Given the description of an element on the screen output the (x, y) to click on. 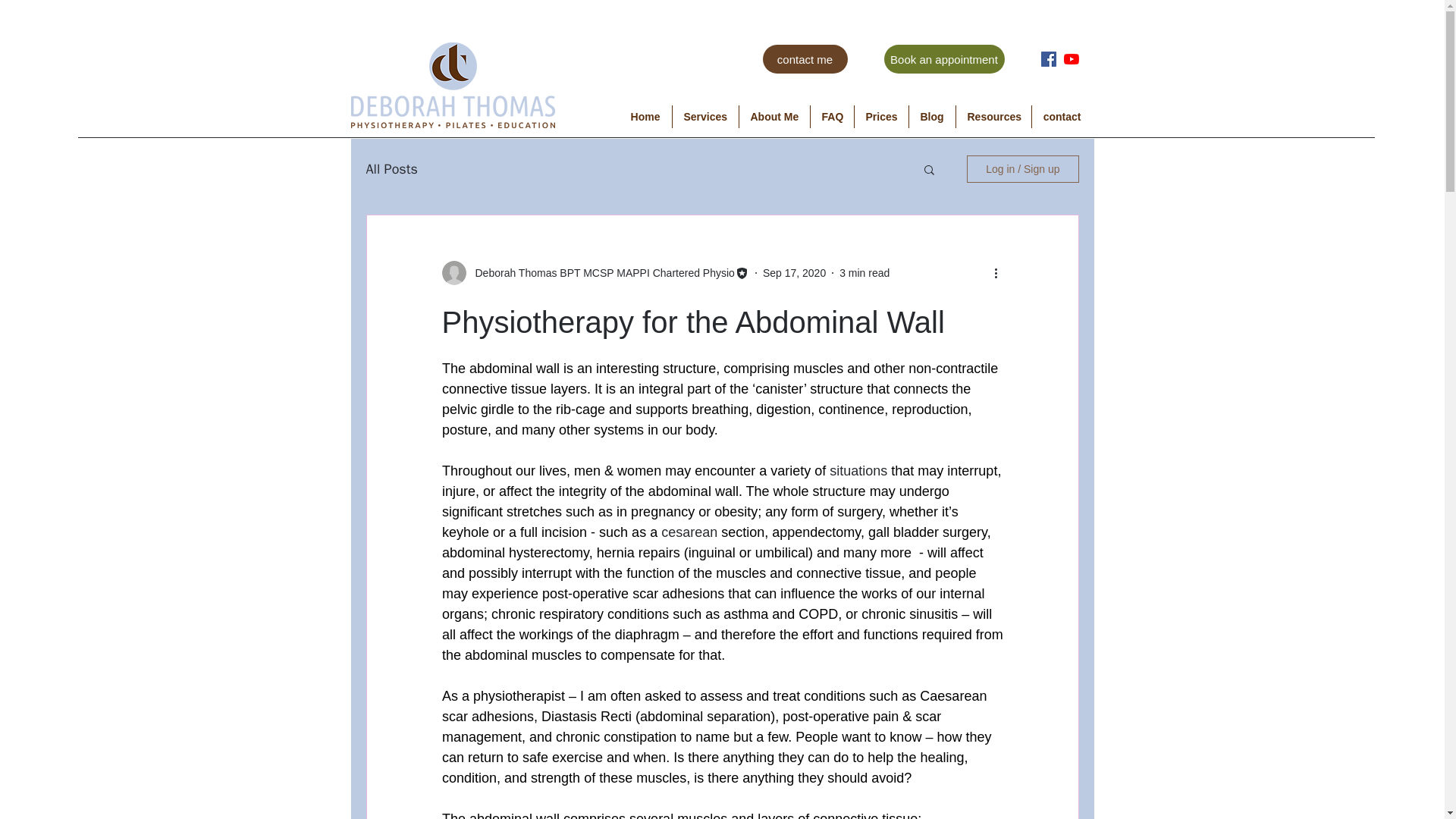
All Posts (390, 168)
Prices (880, 116)
Resources (992, 116)
Deborah Thomas BPT MCSP MAPPI Chartered Physio (599, 273)
Book an appointment (943, 59)
Blog (931, 116)
About Me (773, 116)
3 min read (864, 272)
Home (644, 116)
contact me (804, 59)
FAQ (831, 116)
Sep 17, 2020 (793, 272)
contact (1061, 116)
